Given the description of an element on the screen output the (x, y) to click on. 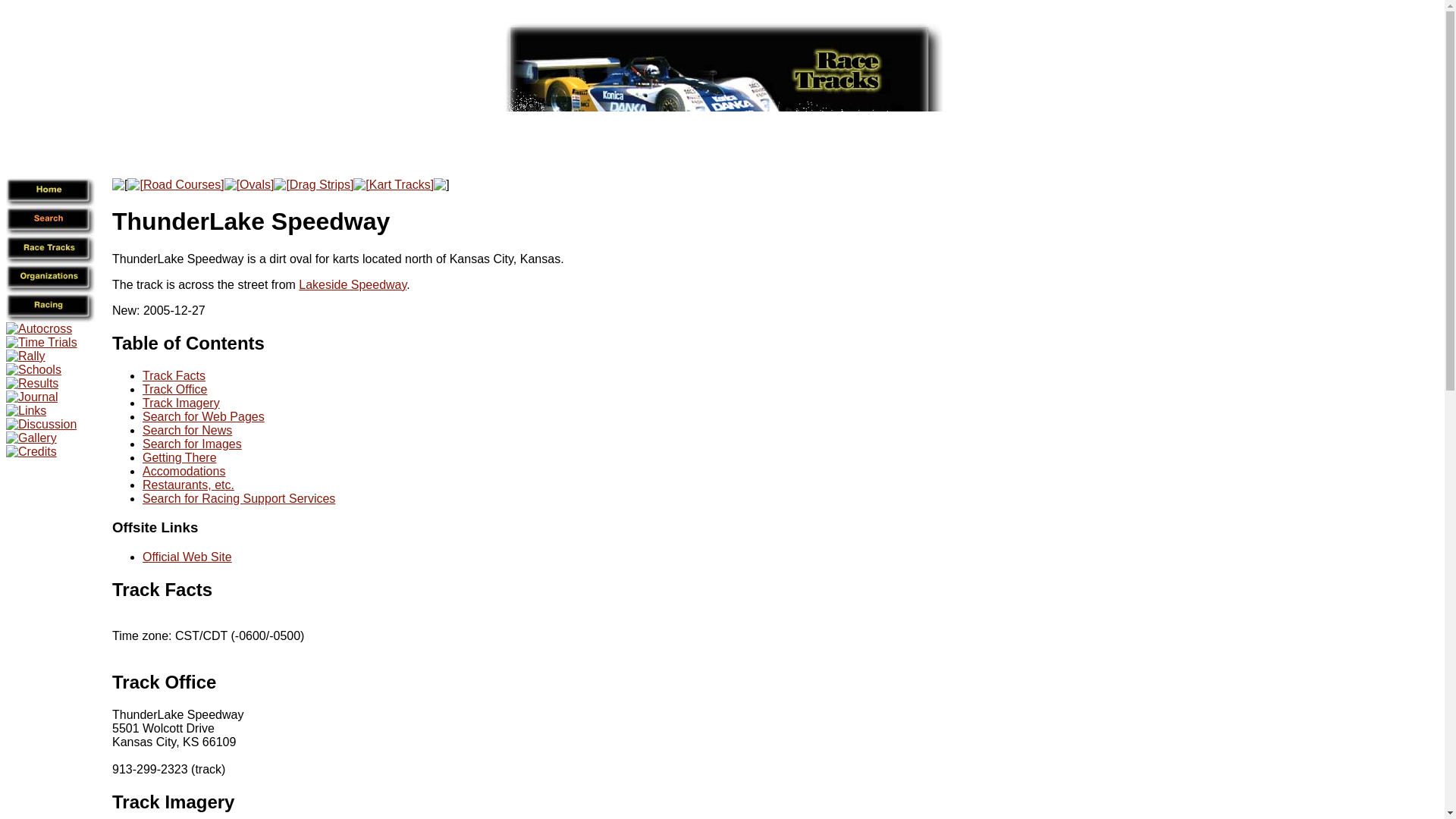
Lakeside Speedway (352, 284)
Track Imagery (173, 801)
Track Imagery (180, 402)
Track Facts (173, 375)
Track Office (174, 389)
Getting There (179, 457)
Search for Images (191, 443)
Official Web Site (186, 556)
Search for Racing Support Services (238, 498)
Search for Web Pages (203, 416)
